Given the description of an element on the screen output the (x, y) to click on. 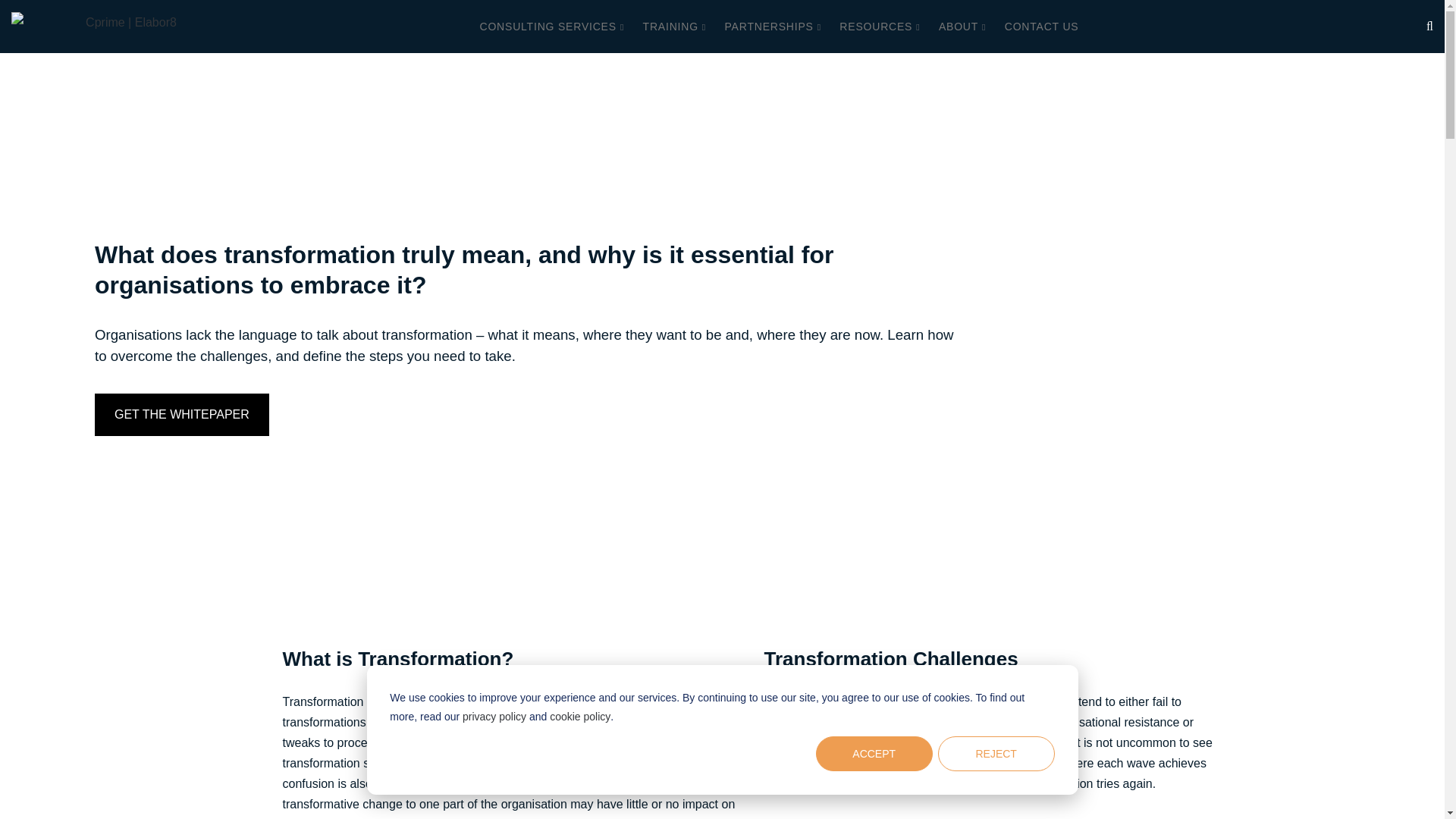
CONTACT US (1041, 26)
TRAINING (674, 26)
RESOURCES (880, 26)
PARTNERSHIPS (772, 26)
GET THE WHITEPAPER (181, 414)
CONSULTING SERVICES (552, 26)
